Given the description of an element on the screen output the (x, y) to click on. 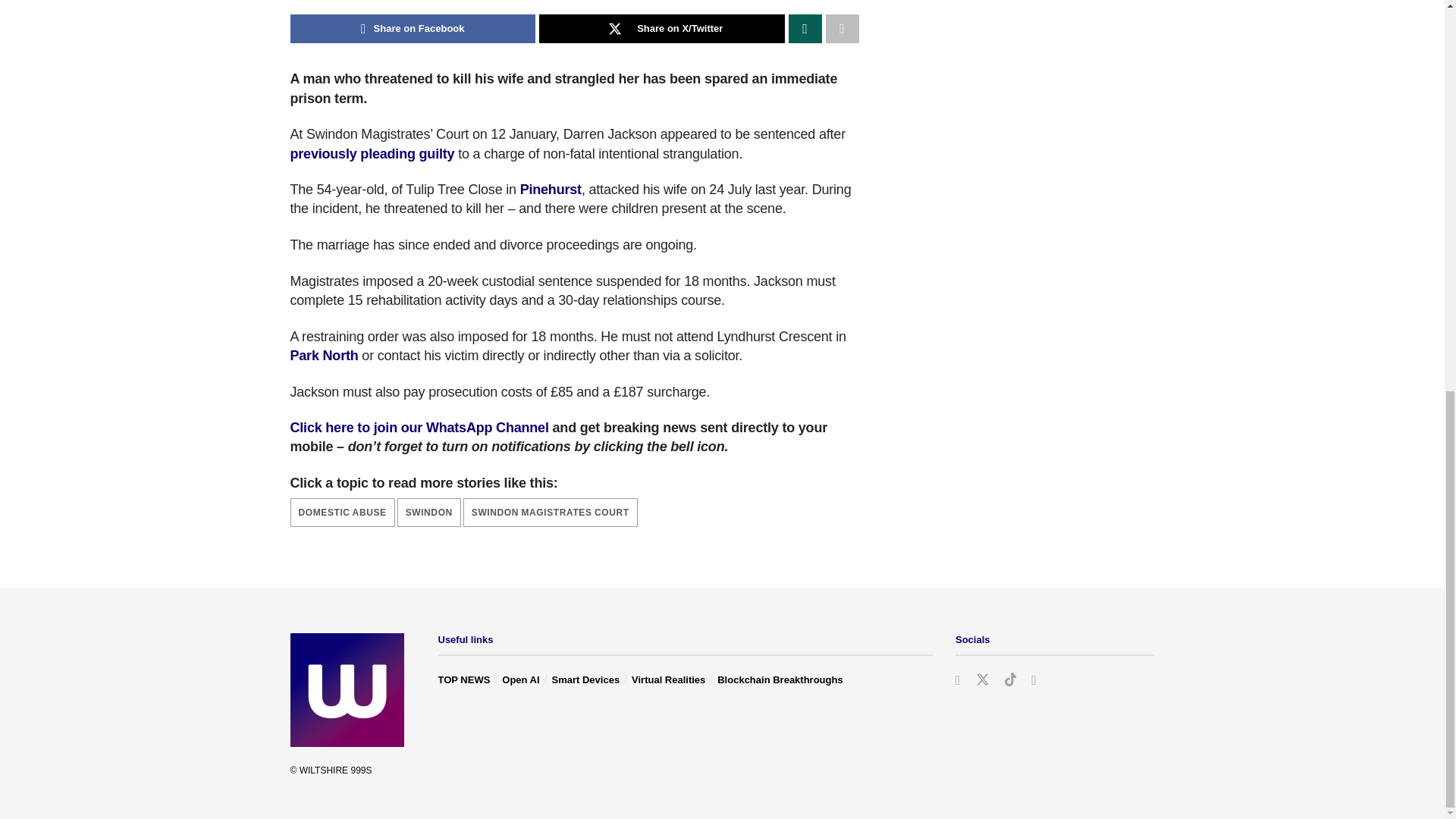
Pinehurst (549, 189)
Park North (323, 355)
DOMESTIC ABUSE (341, 512)
previously pleading guilty (371, 153)
Share on Facebook (412, 28)
SWINDON (429, 512)
SWINDON MAGISTRATES COURT (550, 512)
Click here to join our WhatsApp Channel (418, 427)
